Given the description of an element on the screen output the (x, y) to click on. 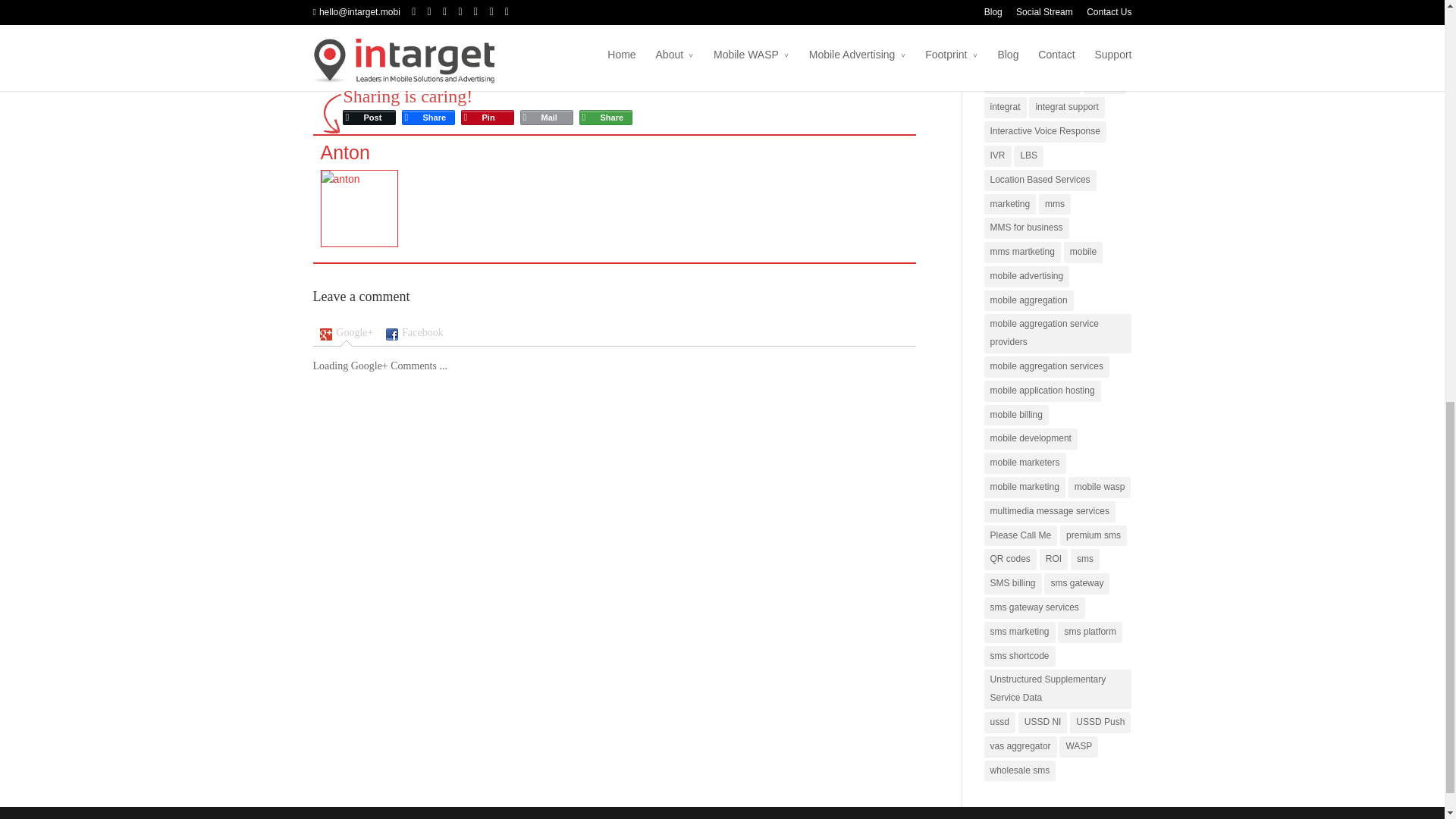
anton (344, 151)
Email This (546, 117)
Facebook (428, 117)
Pinterest (487, 117)
More Options (605, 117)
